Given the description of an element on the screen output the (x, y) to click on. 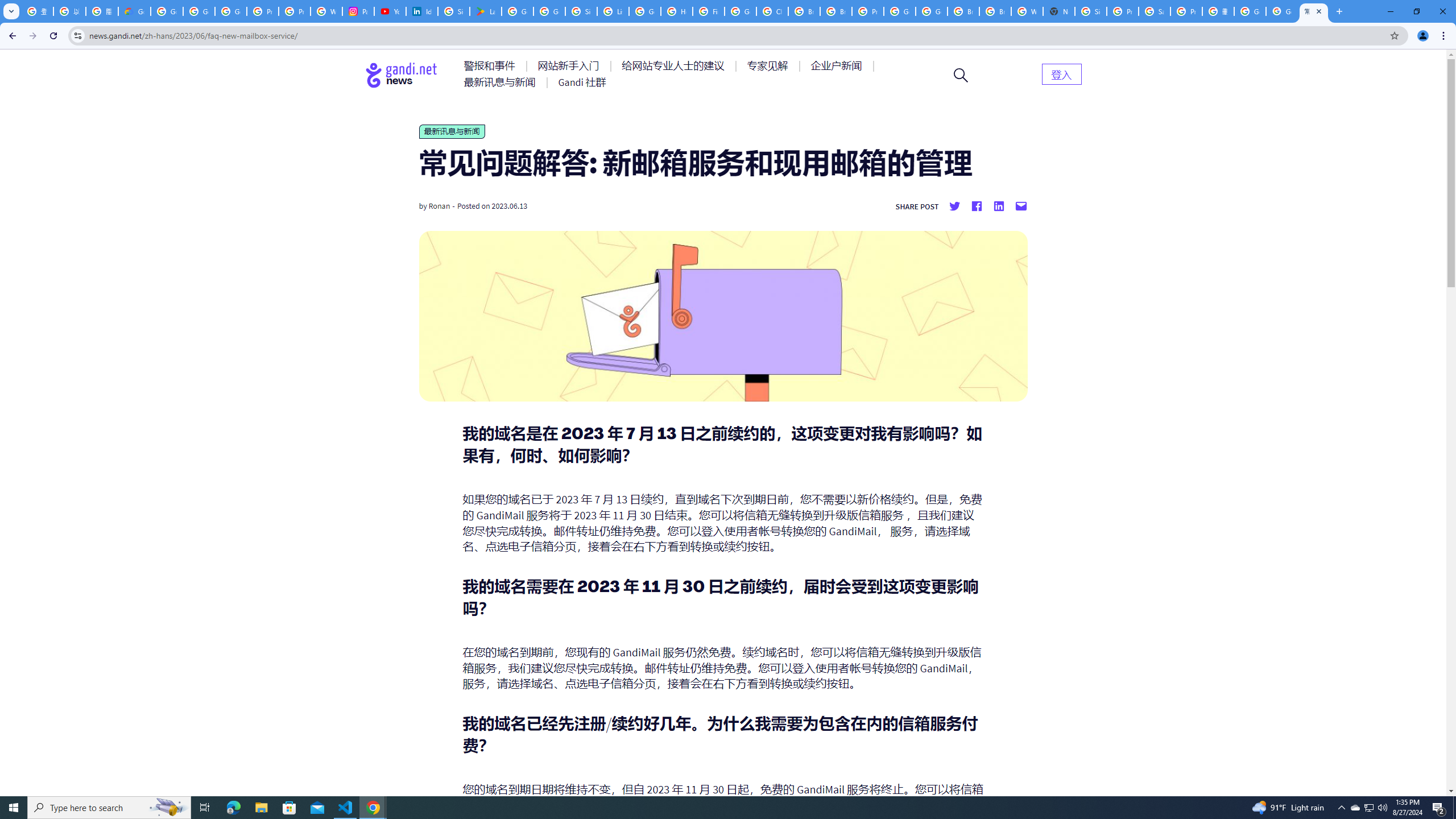
How do I create a new Google Account? - Google Account Help (676, 11)
Last Shelter: Survival - Apps on Google Play (485, 11)
Browse Chrome as a guest - Computer - Google Chrome Help (836, 11)
Share by mail (1020, 205)
AutomationID: menu-item-77766 (502, 82)
